Given the description of an element on the screen output the (x, y) to click on. 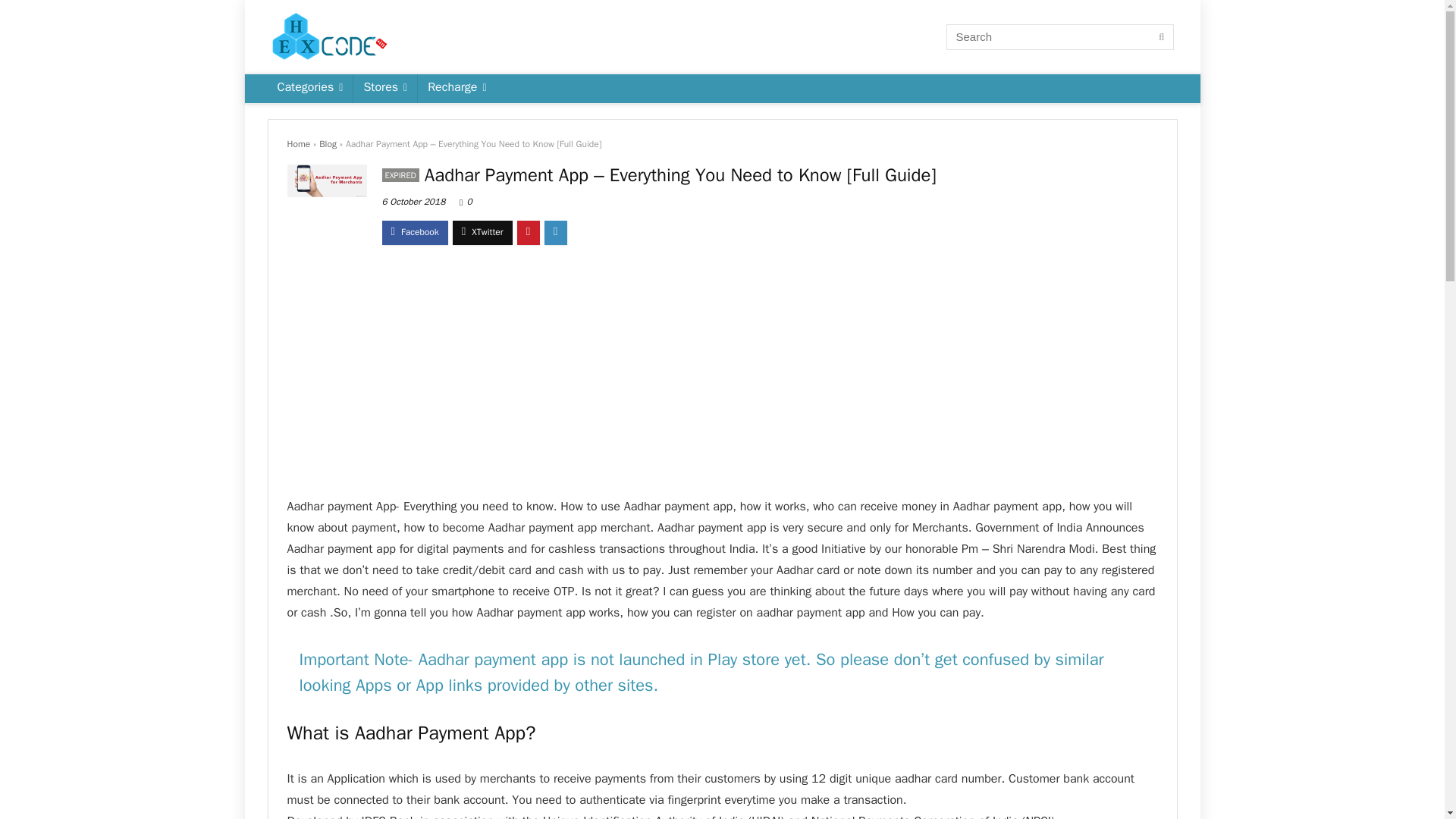
Stores (384, 88)
Home (298, 143)
Categories (309, 88)
Blog (327, 143)
Recharge (456, 88)
